Given the description of an element on the screen output the (x, y) to click on. 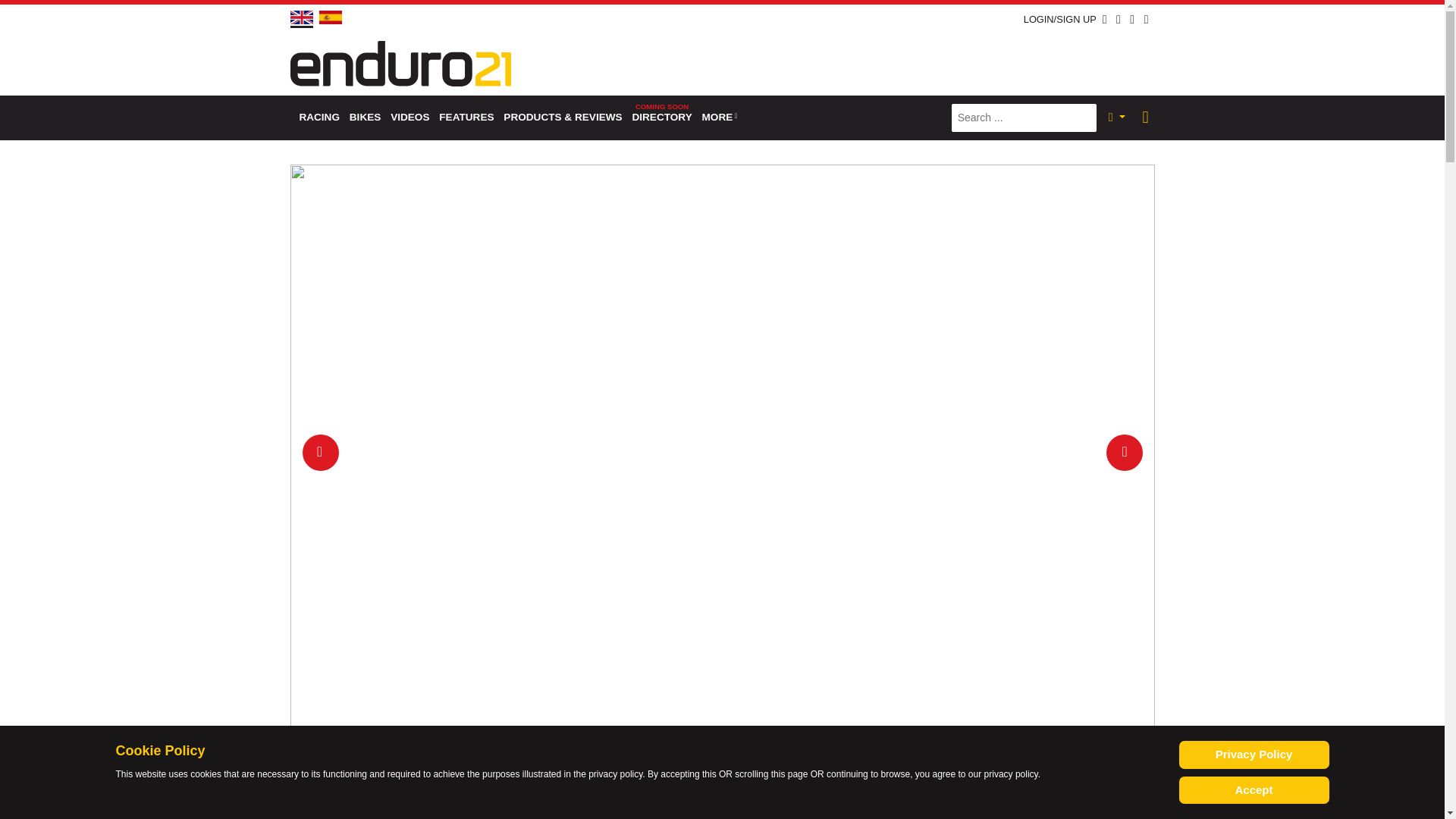
Share on Reddit (547, 803)
MORE (719, 117)
Recommend this page (604, 803)
Share on Facebook (460, 803)
Share on LinkedIn (518, 803)
VIDEOS (409, 117)
Share on Twitter (489, 803)
BIKES (364, 117)
RACING (318, 117)
DIRECTORY (662, 117)
FEATURES (466, 117)
